Given the description of an element on the screen output the (x, y) to click on. 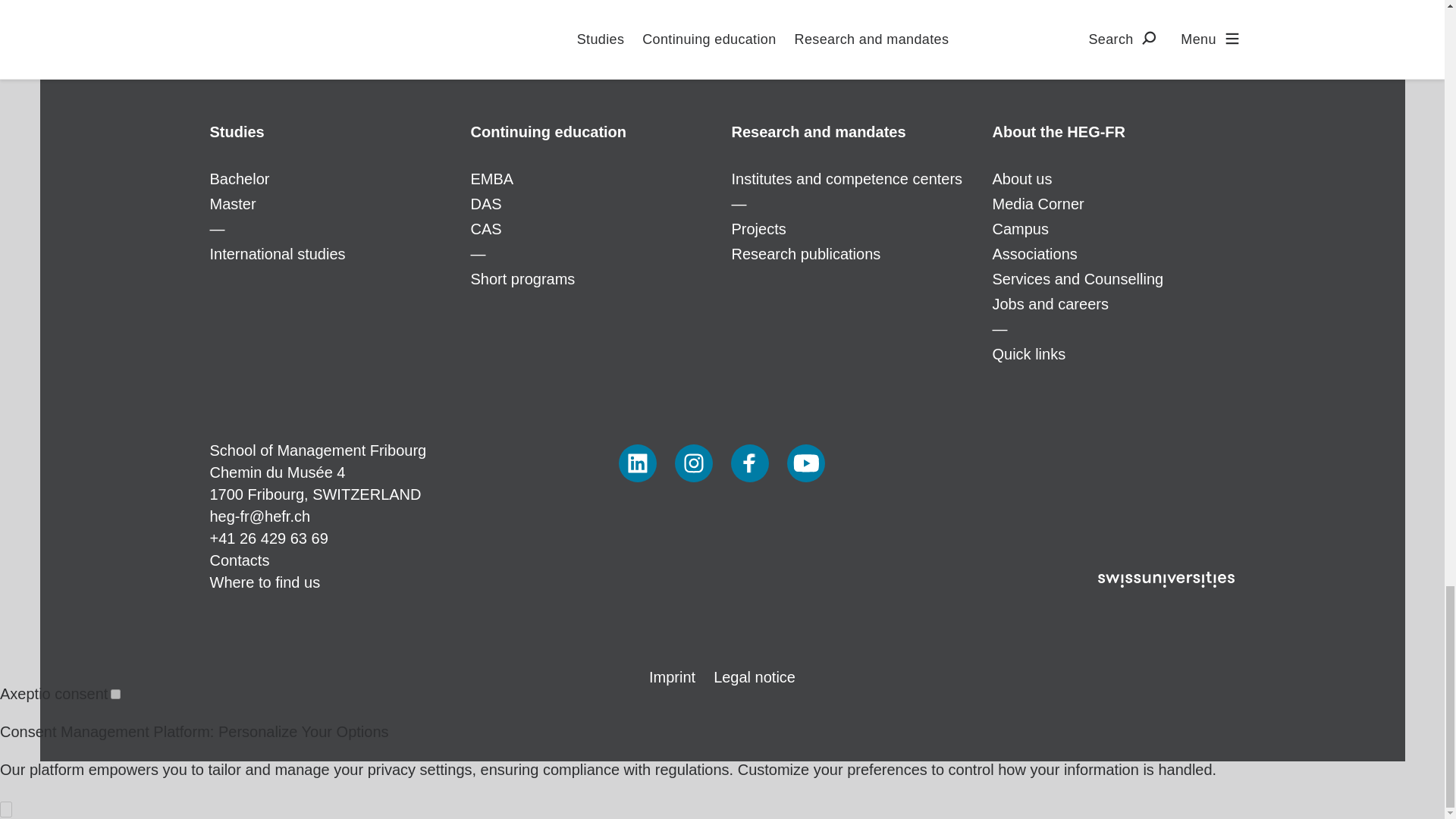
Where to find us (264, 582)
Legal notice (753, 677)
Follow us on Facebook (749, 463)
Contacts (239, 560)
About us (1112, 131)
instagram (694, 463)
Follow us on LinkedIn (637, 463)
linkedin (637, 463)
youtube (806, 463)
facebook (749, 463)
